Given the description of an element on the screen output the (x, y) to click on. 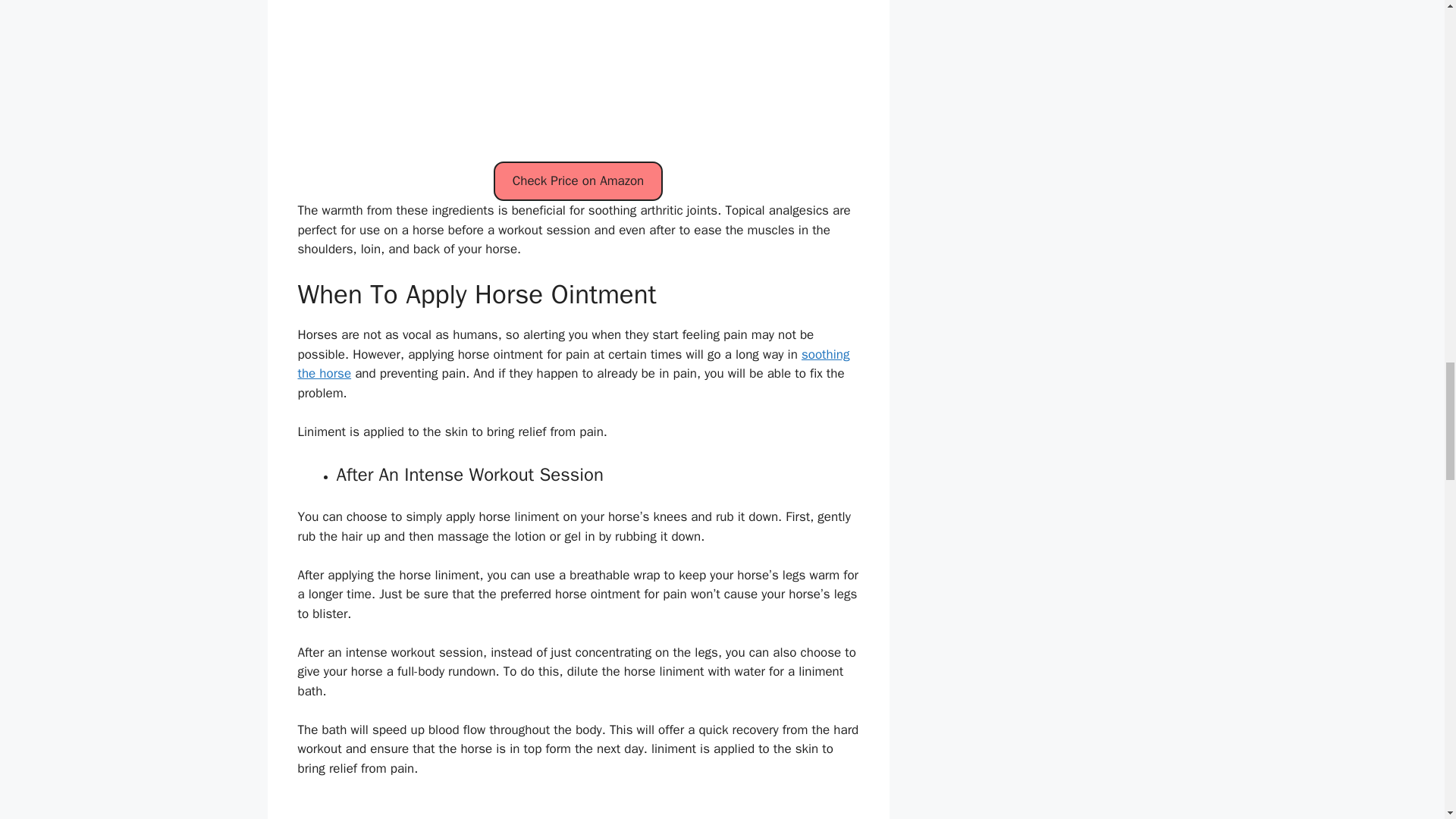
soothing the horse (572, 364)
Check Price on Amazon (577, 180)
